Given the description of an element on the screen output the (x, y) to click on. 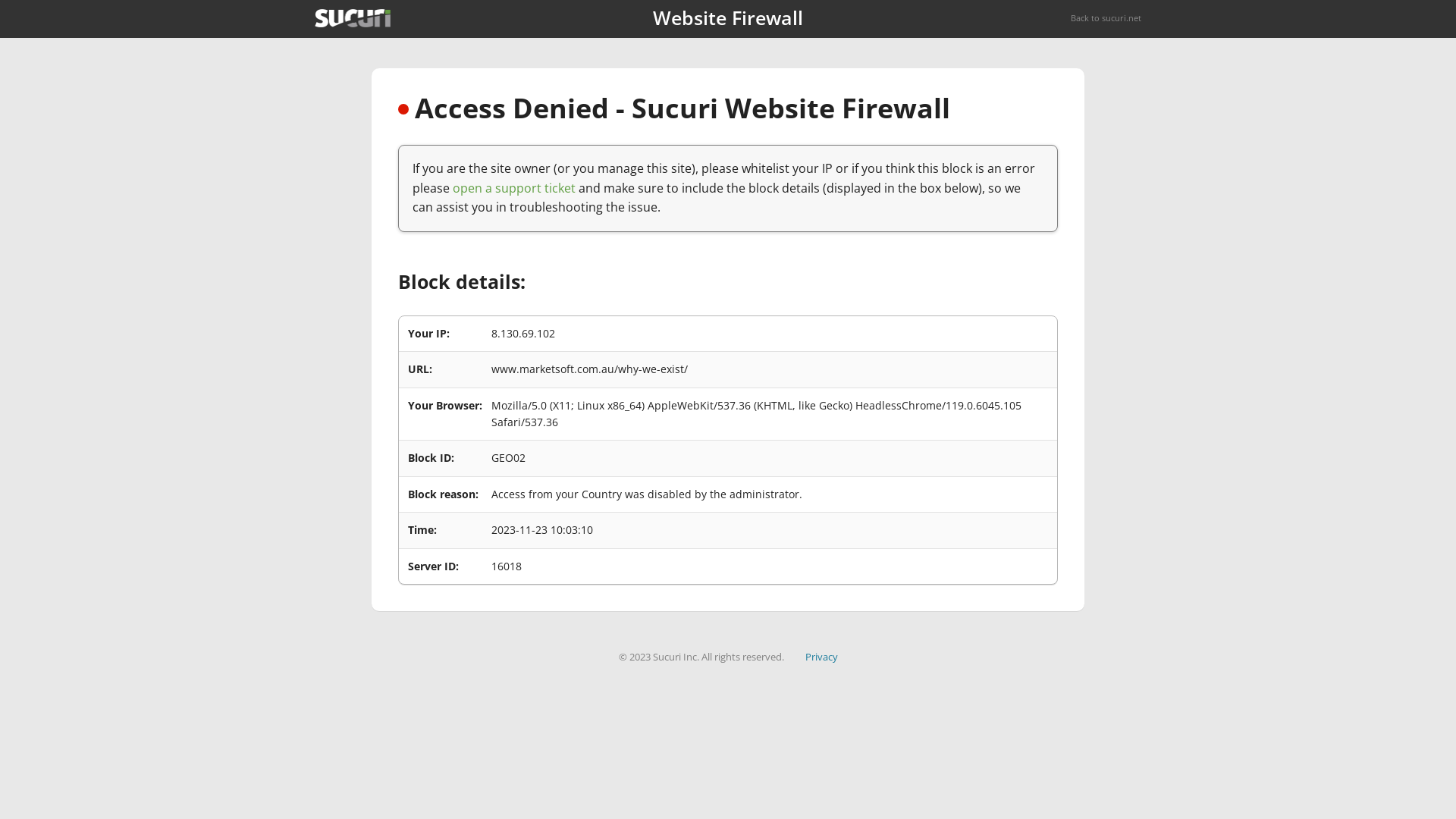
Back to sucuri.net Element type: text (1105, 18)
Privacy Element type: text (821, 656)
open a support ticket Element type: text (513, 187)
